Given the description of an element on the screen output the (x, y) to click on. 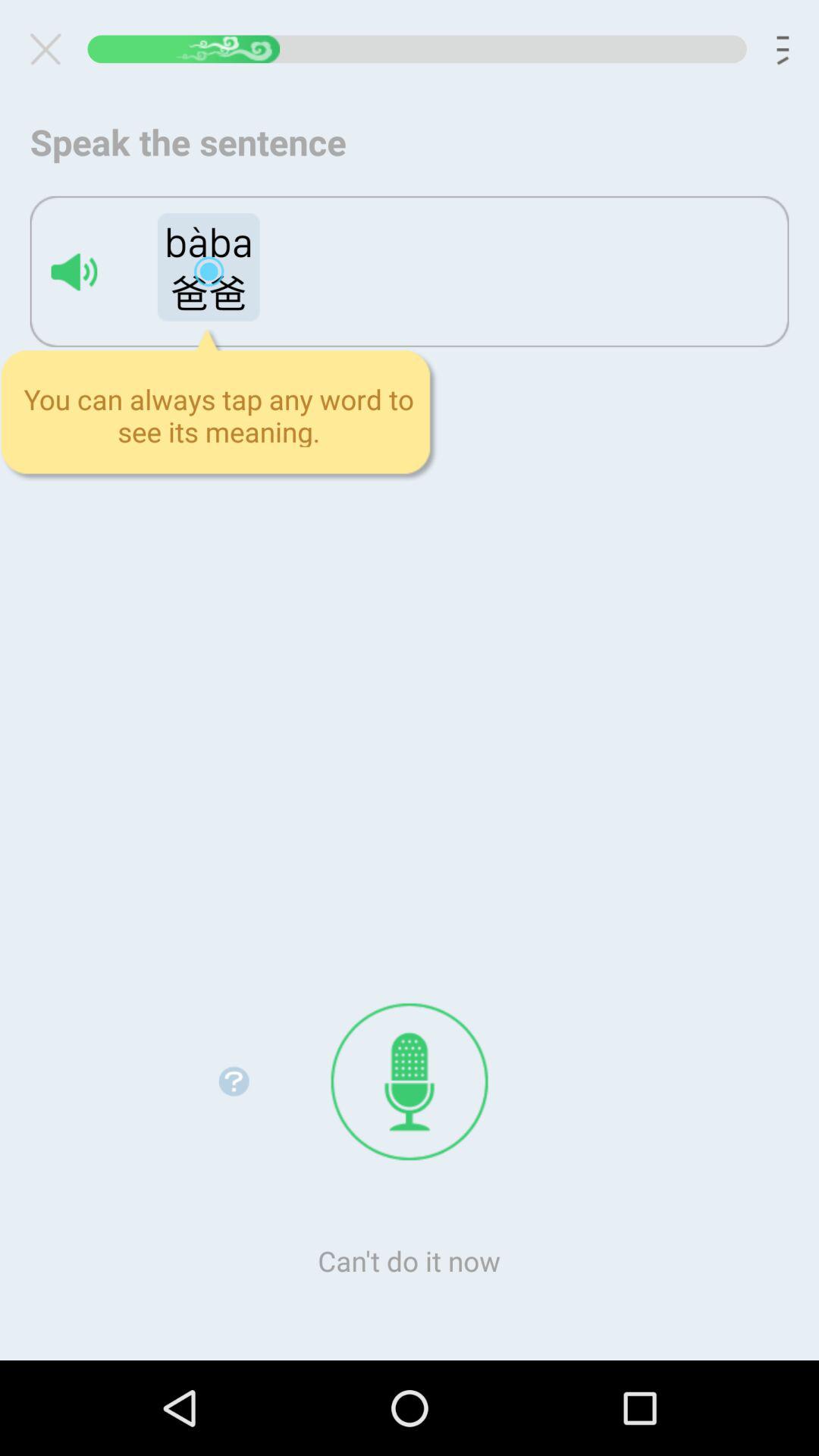
exit out of app (51, 49)
